Given the description of an element on the screen output the (x, y) to click on. 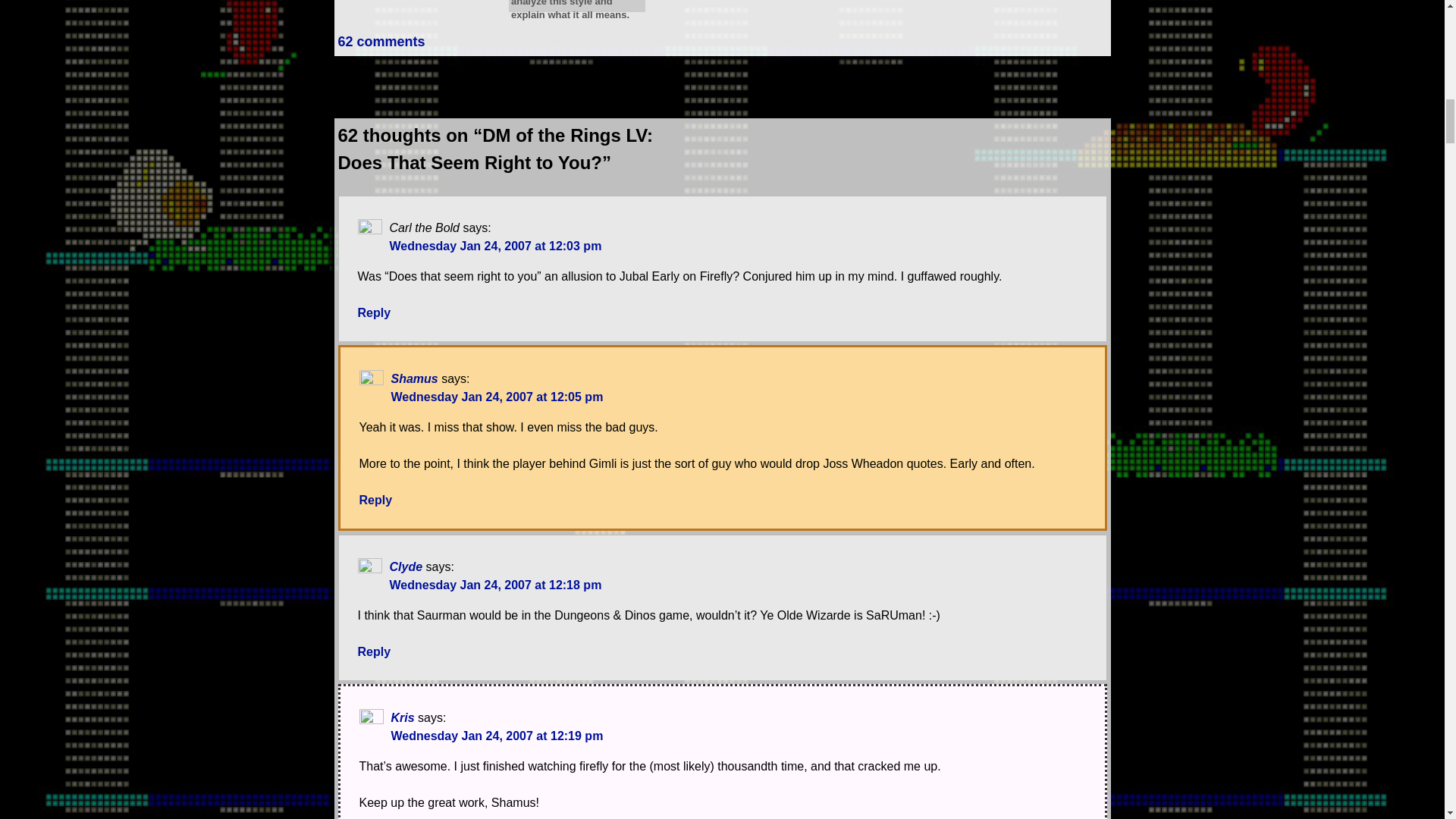
Wednesday Jan 24, 2007 at 12:03 pm (496, 245)
Reply (374, 312)
Reply (374, 651)
Clyde (406, 566)
Kris (402, 717)
Wednesday Jan 24, 2007 at 12:19 pm (497, 735)
Wednesday Jan 24, 2007 at 12:18 pm (496, 584)
Shamus (414, 378)
Reply (376, 499)
Wednesday Jan 24, 2007 at 12:05 pm (497, 396)
62 comments (381, 41)
